Given the description of an element on the screen output the (x, y) to click on. 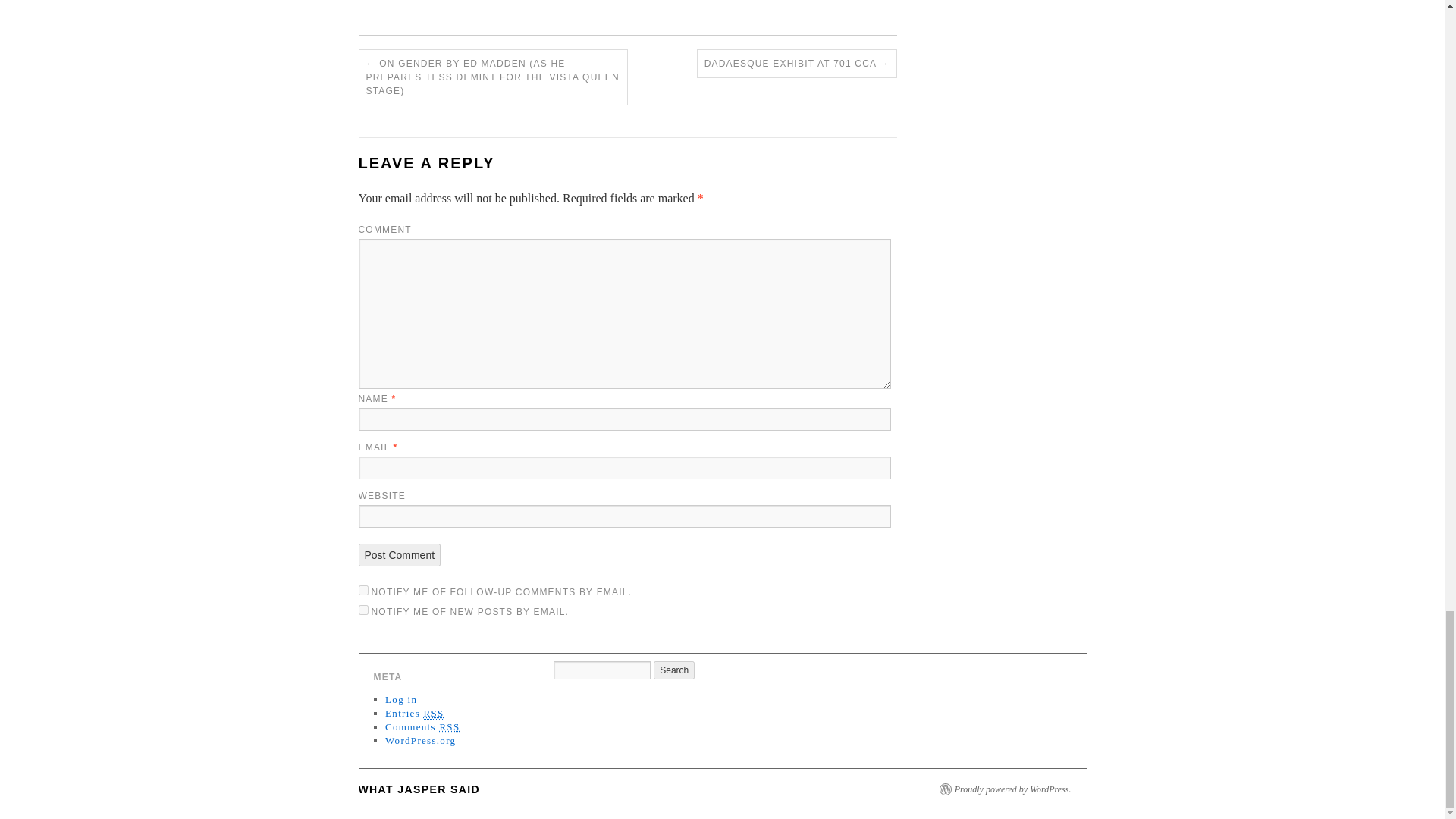
Log in (400, 699)
subscribe (363, 610)
Really Simple Syndication (449, 727)
Search (673, 669)
Post Comment (399, 554)
Really Simple Syndication (433, 713)
Post Comment (399, 554)
subscribe (363, 590)
what JASPER said (419, 788)
Semantic Personal Publishing Platform (1012, 788)
